Given the description of an element on the screen output the (x, y) to click on. 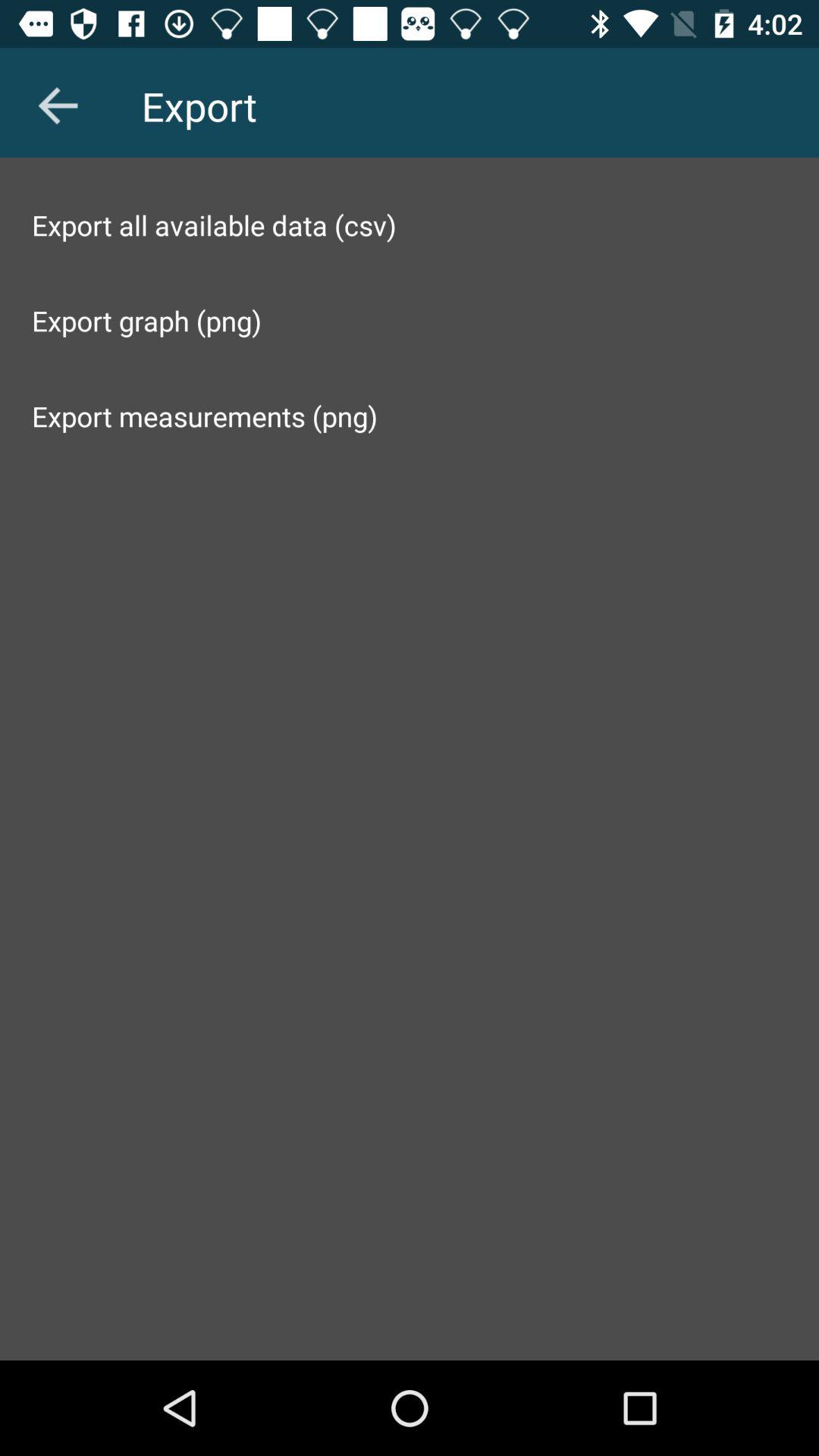
tap the item at the top left corner (57, 105)
